Given the description of an element on the screen output the (x, y) to click on. 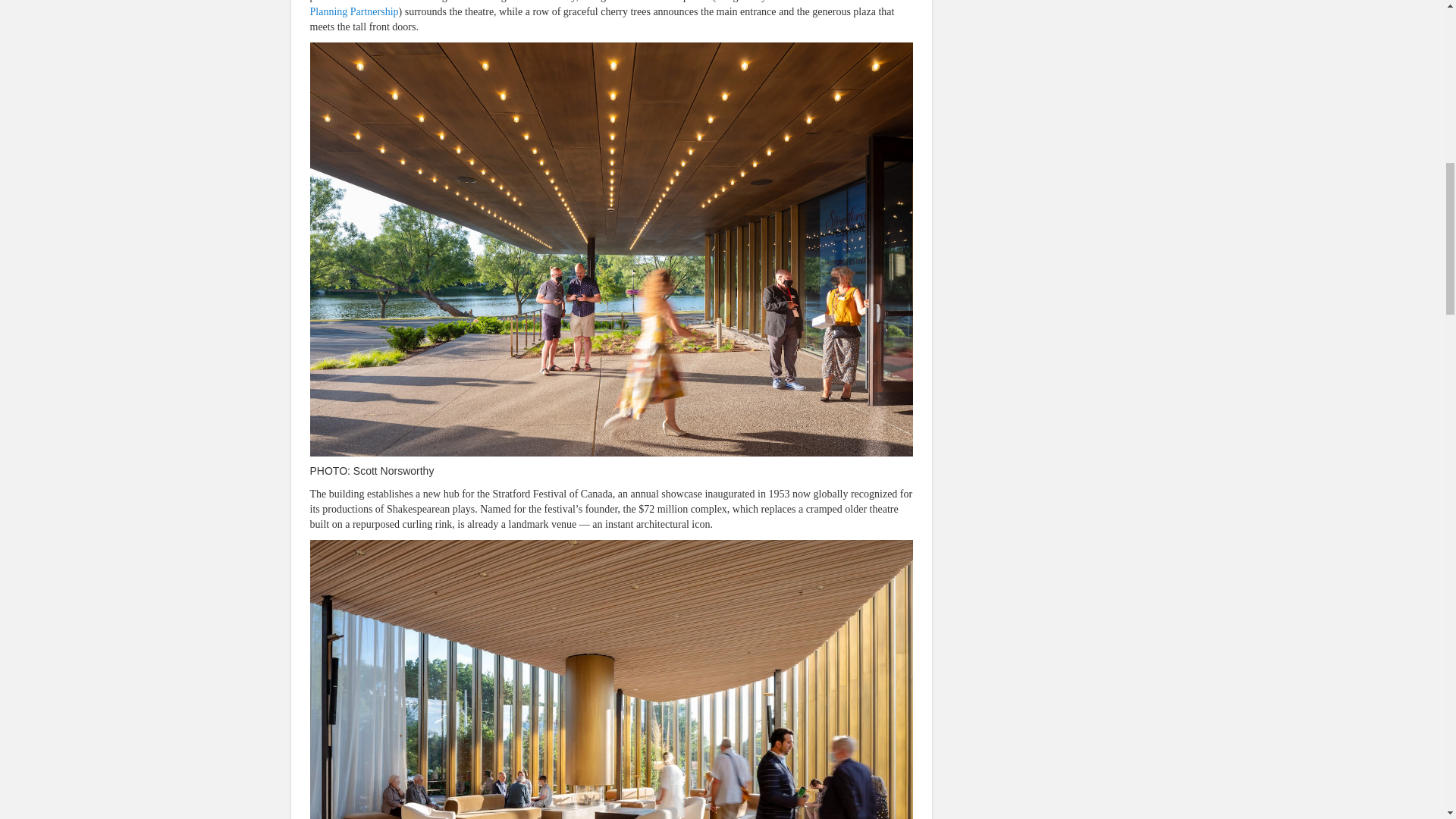
The Planning Partnership (608, 8)
